Given the description of an element on the screen output the (x, y) to click on. 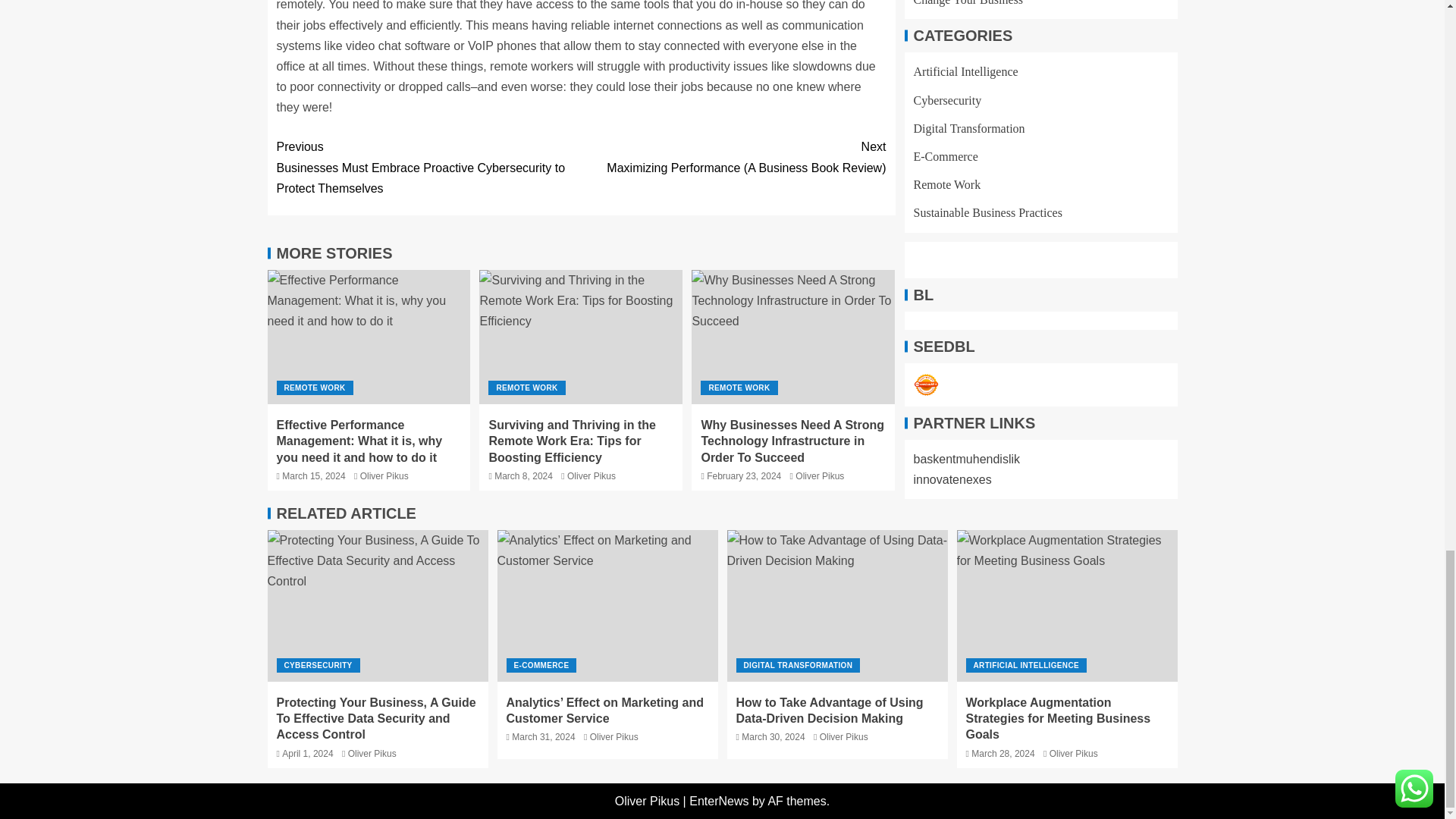
Oliver Pikus (384, 475)
REMOTE WORK (314, 387)
